Given the description of an element on the screen output the (x, y) to click on. 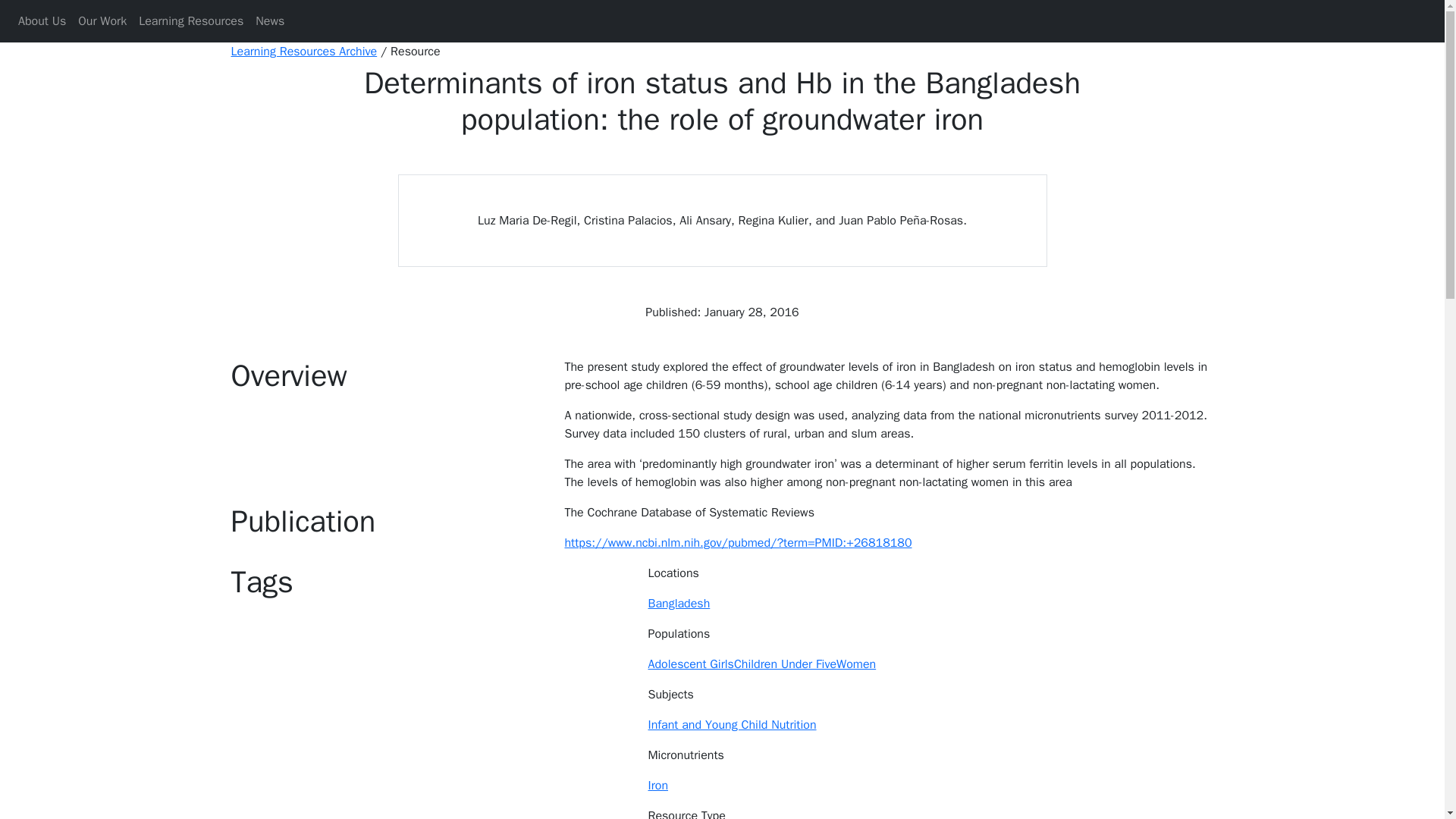
Women (855, 663)
News (268, 20)
About Us (41, 20)
Adolescent Girls (690, 663)
Infant and Young Child Nutrition (731, 724)
Learning Resources Archive (303, 51)
Learning Resources (190, 20)
Our Work (101, 20)
Iron (657, 785)
Children Under Five (784, 663)
